Given the description of an element on the screen output the (x, y) to click on. 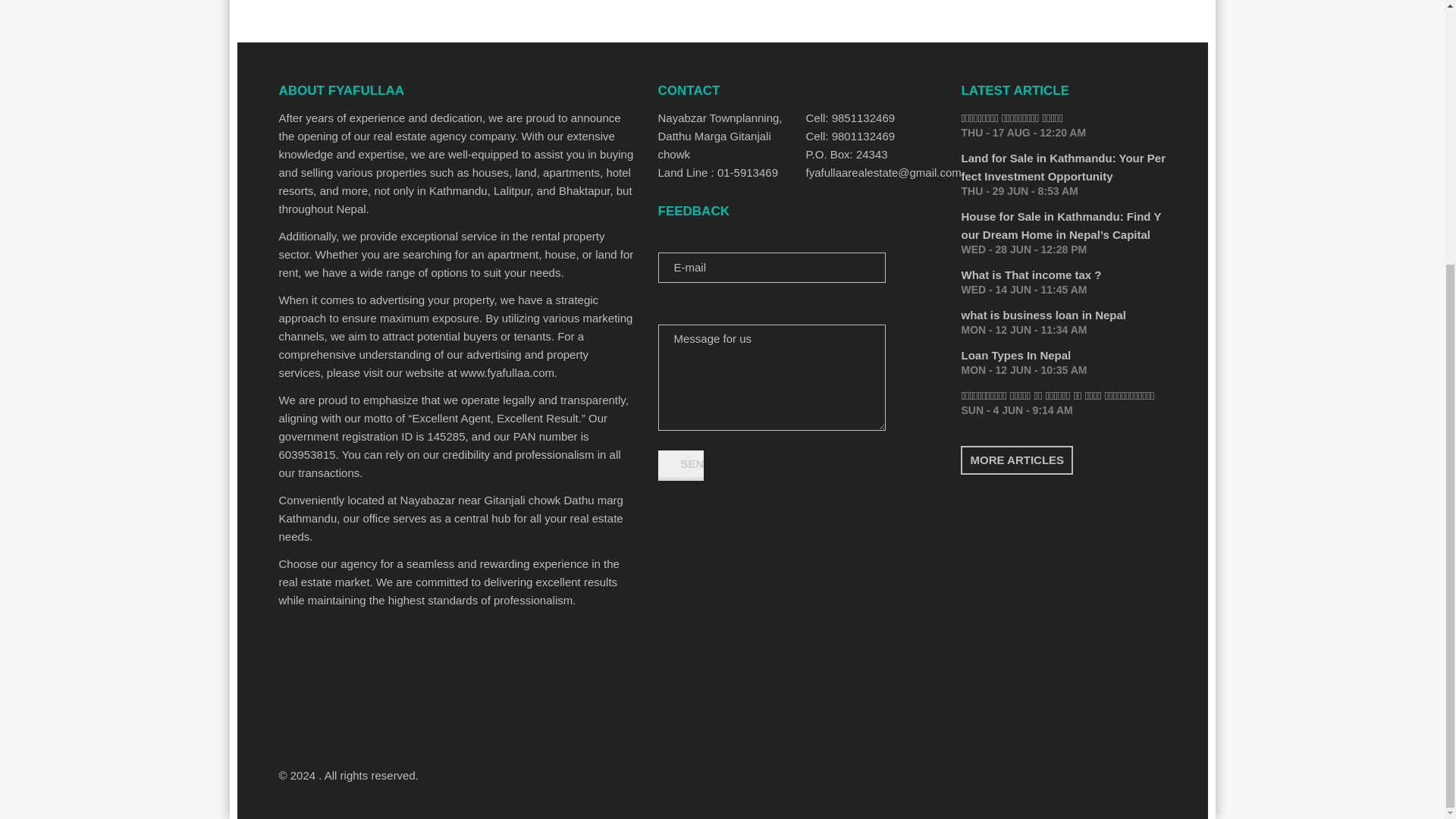
Send (680, 465)
Cell: 9851132469 (871, 117)
Cell: 9801132469 (871, 136)
